Given the description of an element on the screen output the (x, y) to click on. 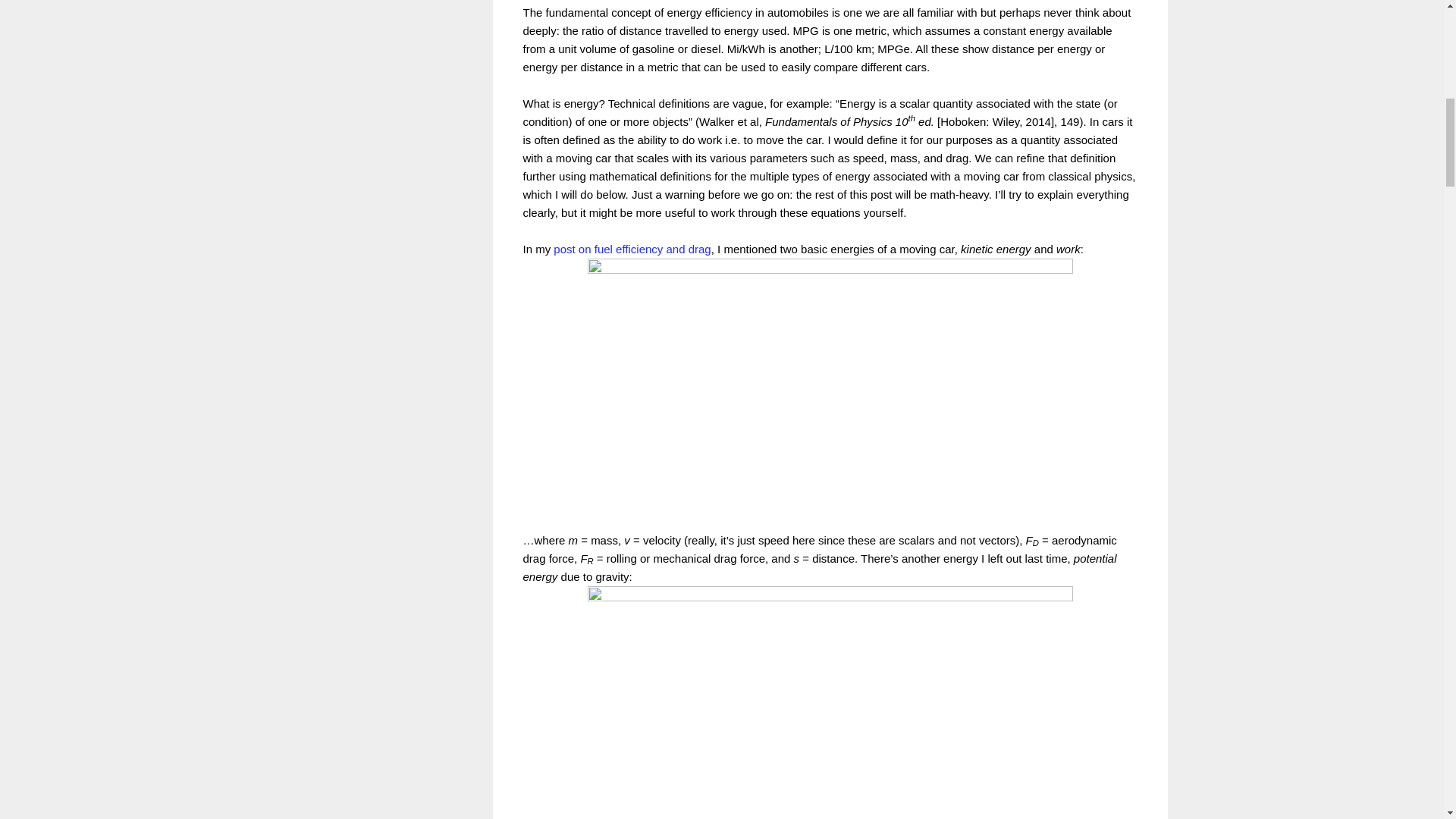
post on fuel efficiency and drag (631, 248)
